Given the description of an element on the screen output the (x, y) to click on. 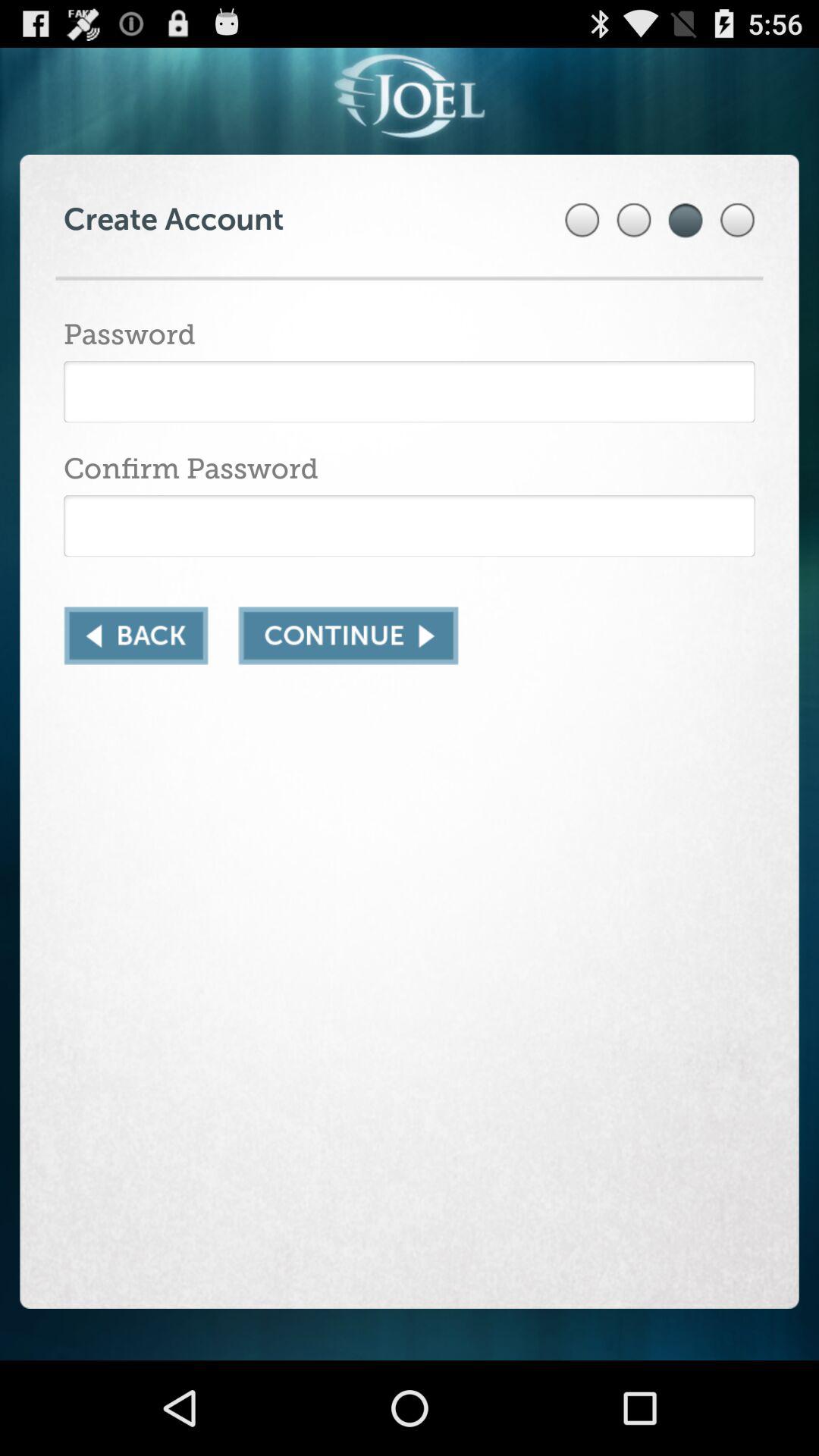
enter password (409, 391)
